Given the description of an element on the screen output the (x, y) to click on. 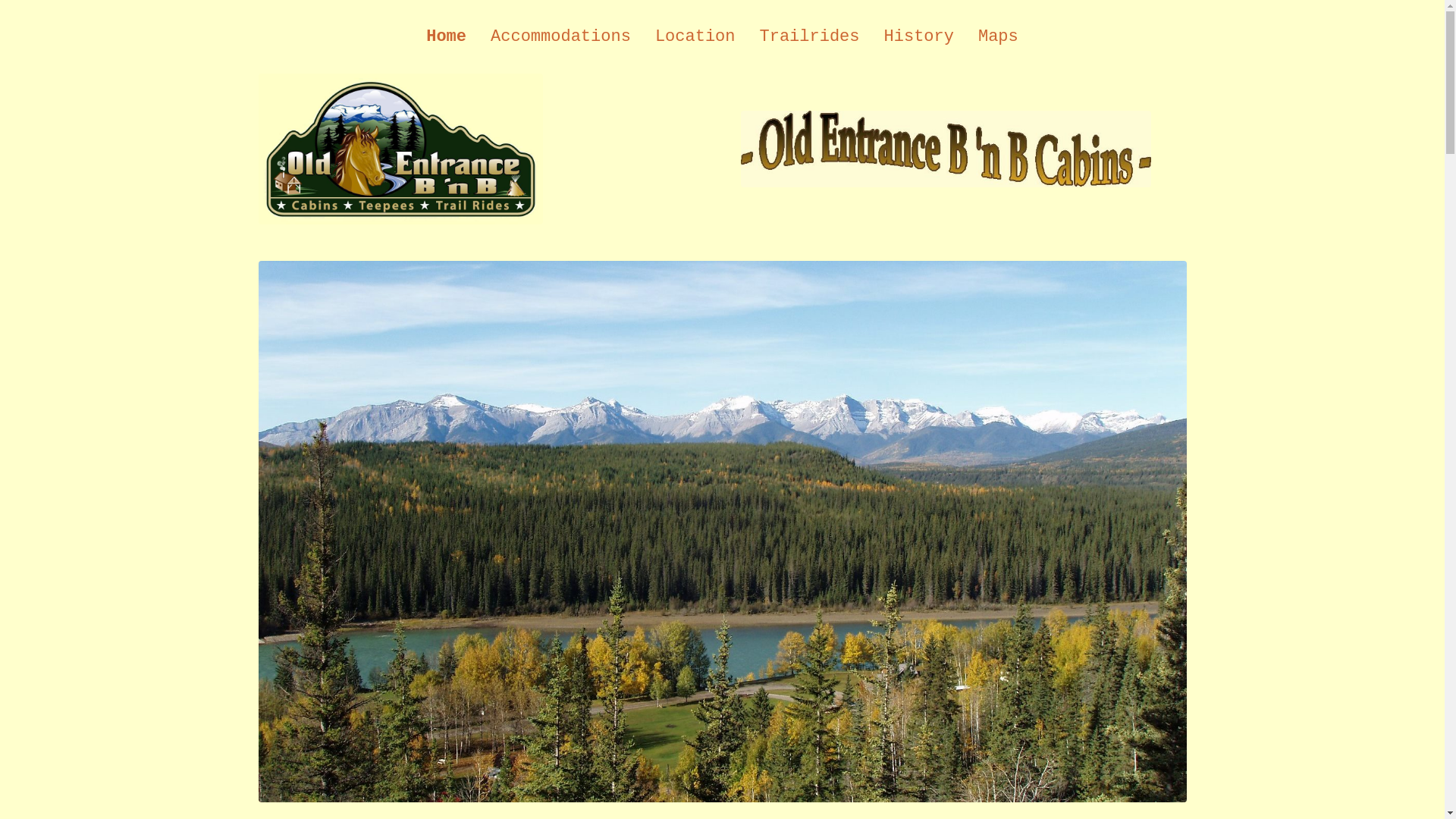
Location Element type: text (695, 36)
Maps Element type: text (998, 36)
Accommodations Element type: text (560, 36)
History Element type: text (919, 36)
Home Element type: text (446, 36)
Trailrides Element type: text (809, 36)
